Given the description of an element on the screen output the (x, y) to click on. 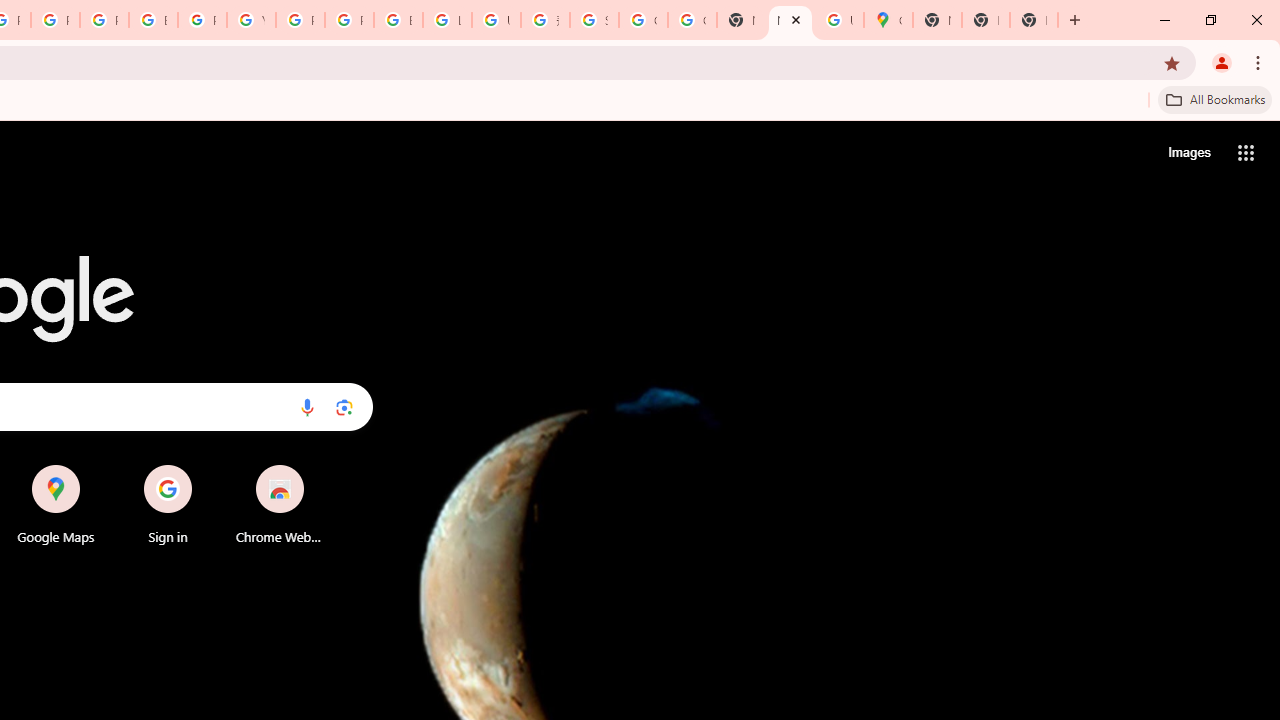
Sign in - Google Accounts (594, 20)
Google Maps (56, 504)
Remove (319, 466)
New Tab (937, 20)
YouTube (251, 20)
